Given the description of an element on the screen output the (x, y) to click on. 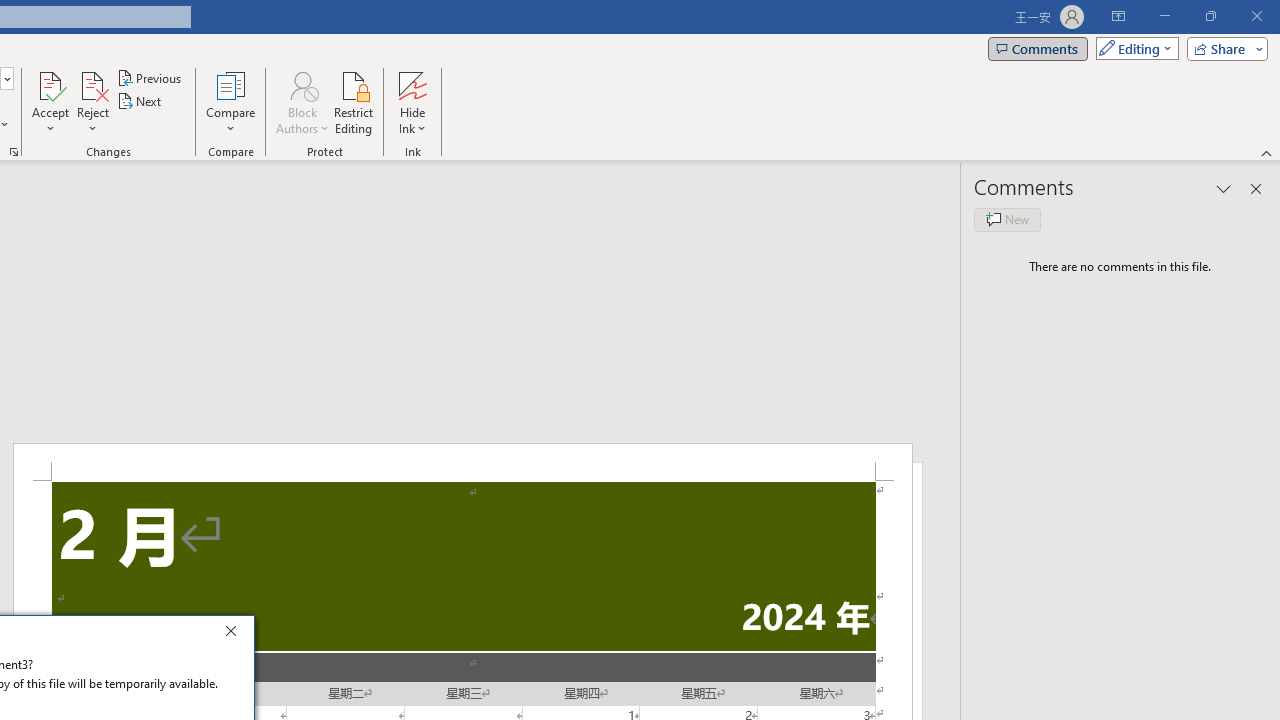
Reject and Move to Next (92, 84)
Hide Ink (412, 84)
Accept (50, 102)
Reject (92, 102)
Accept and Move to Next (50, 84)
Header -Section 2- (462, 461)
Hide Ink (412, 102)
Block Authors (302, 84)
